Given the description of an element on the screen output the (x, y) to click on. 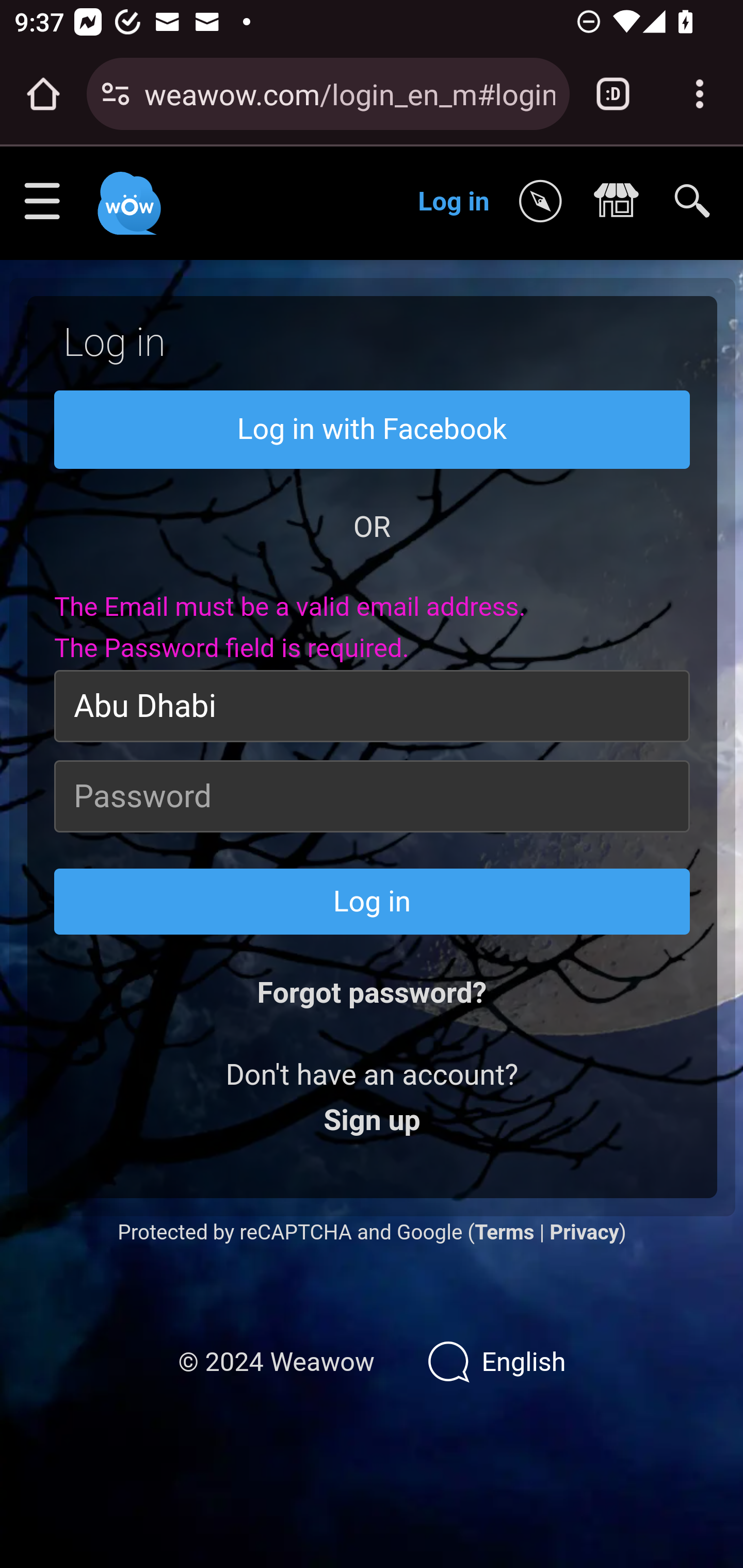
Open the home page (43, 93)
Connection is secure (115, 93)
Switch or close tabs (612, 93)
Customize and control Google Chrome (699, 93)
weawow.com/login_en_m#login (349, 92)
Weawow (127, 194)
 (545, 201)
 (621, 201)
Log in (453, 201)
Abu Dhabi (372, 706)
Log in (372, 902)
Forgot password? (371, 993)
Sign up (371, 1120)
Terms (503, 1231)
Privacy (583, 1231)
© 2024 Weawow (275, 1362)
